Given the description of an element on the screen output the (x, y) to click on. 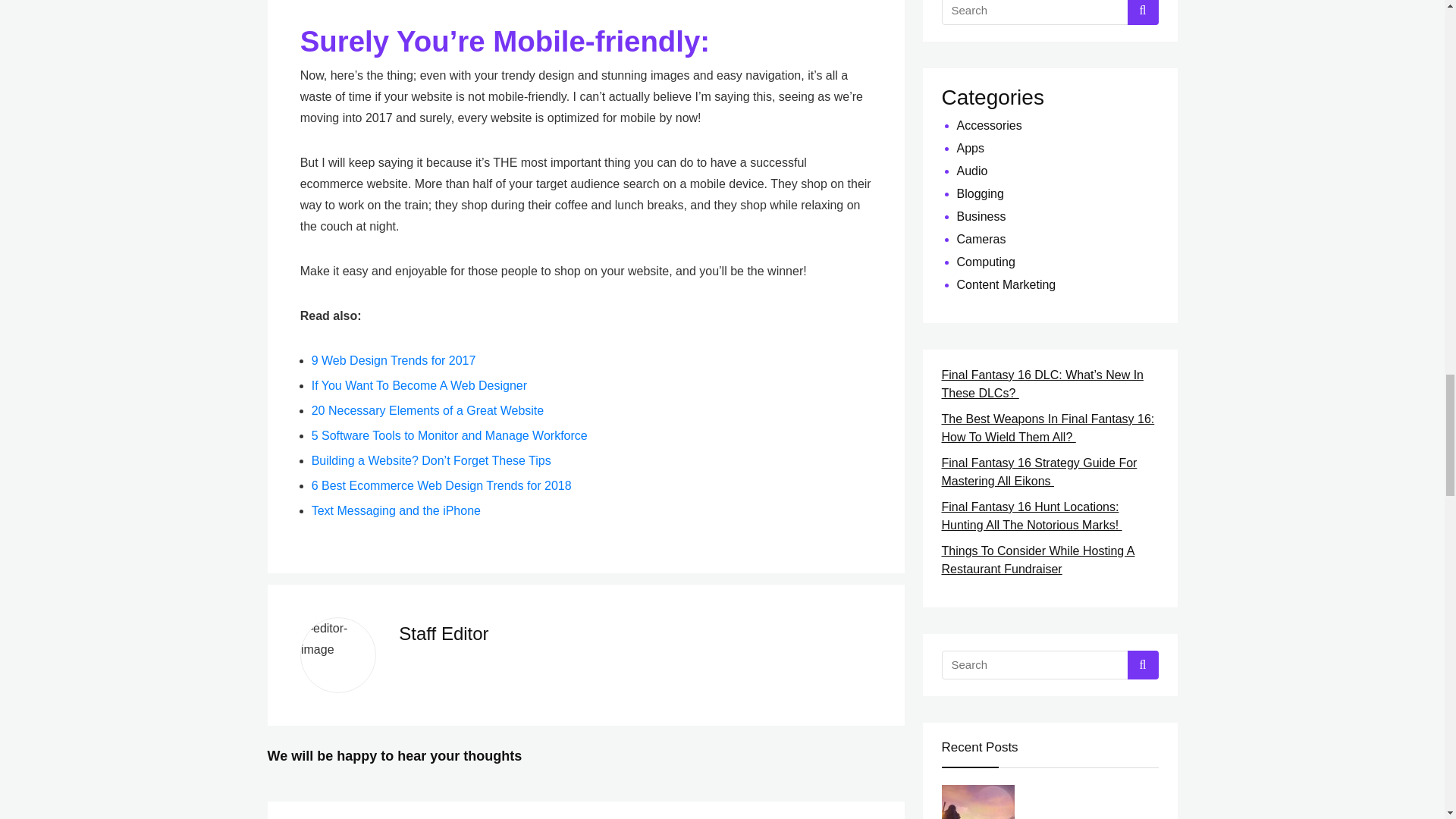
Text Messaging and the iPhone (395, 510)
5 Software Tools to Monitor and Manage Workforce (449, 435)
6 Best Ecommerce Web Design Trends for 2018 (441, 485)
If You Want To Become A Web Designer (419, 385)
9 Web Design Trends for 2017 (393, 359)
20 Necessary Elements of a Great Website (427, 410)
